Given the description of an element on the screen output the (x, y) to click on. 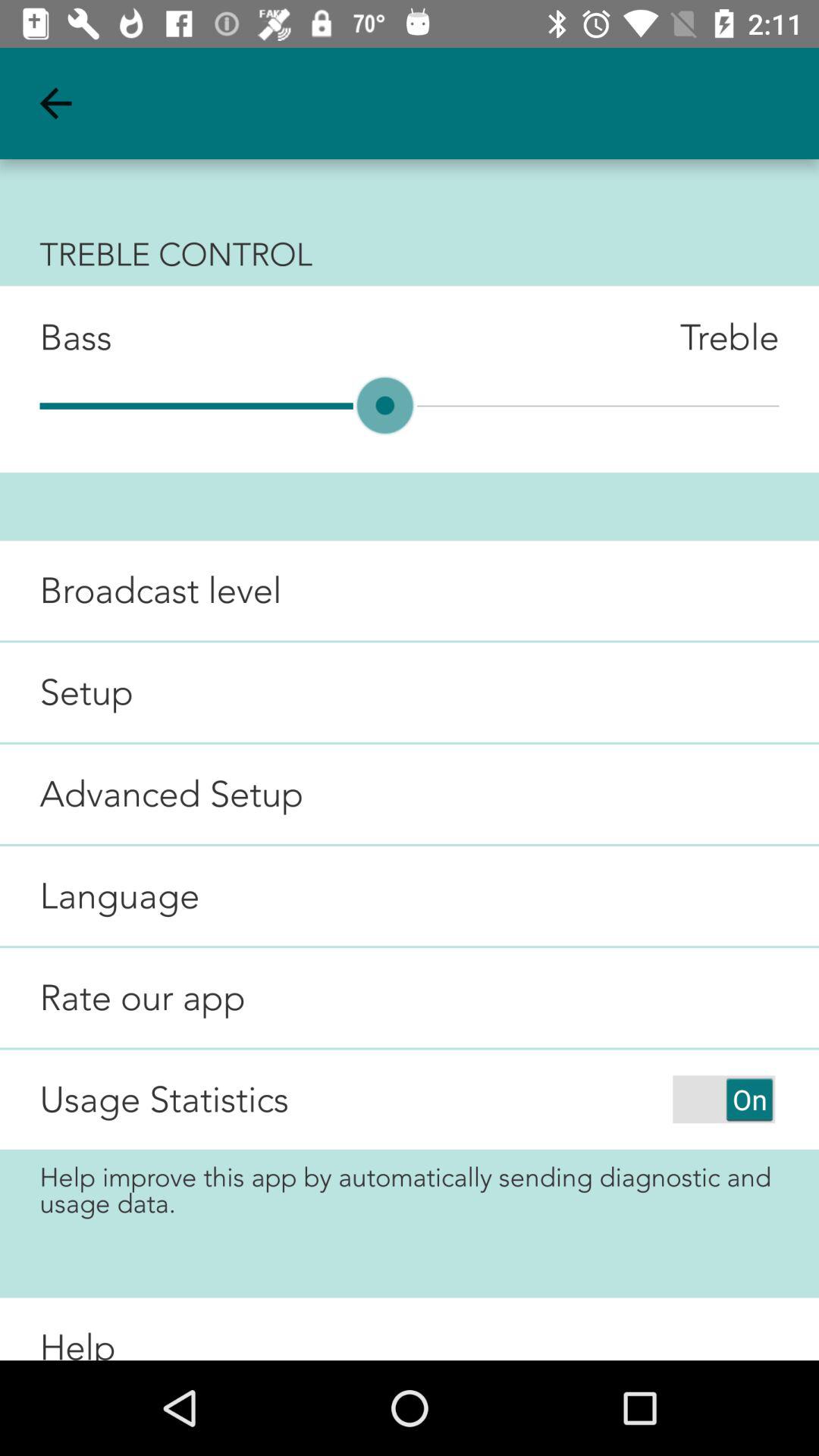
click item below language icon (122, 997)
